Given the description of an element on the screen output the (x, y) to click on. 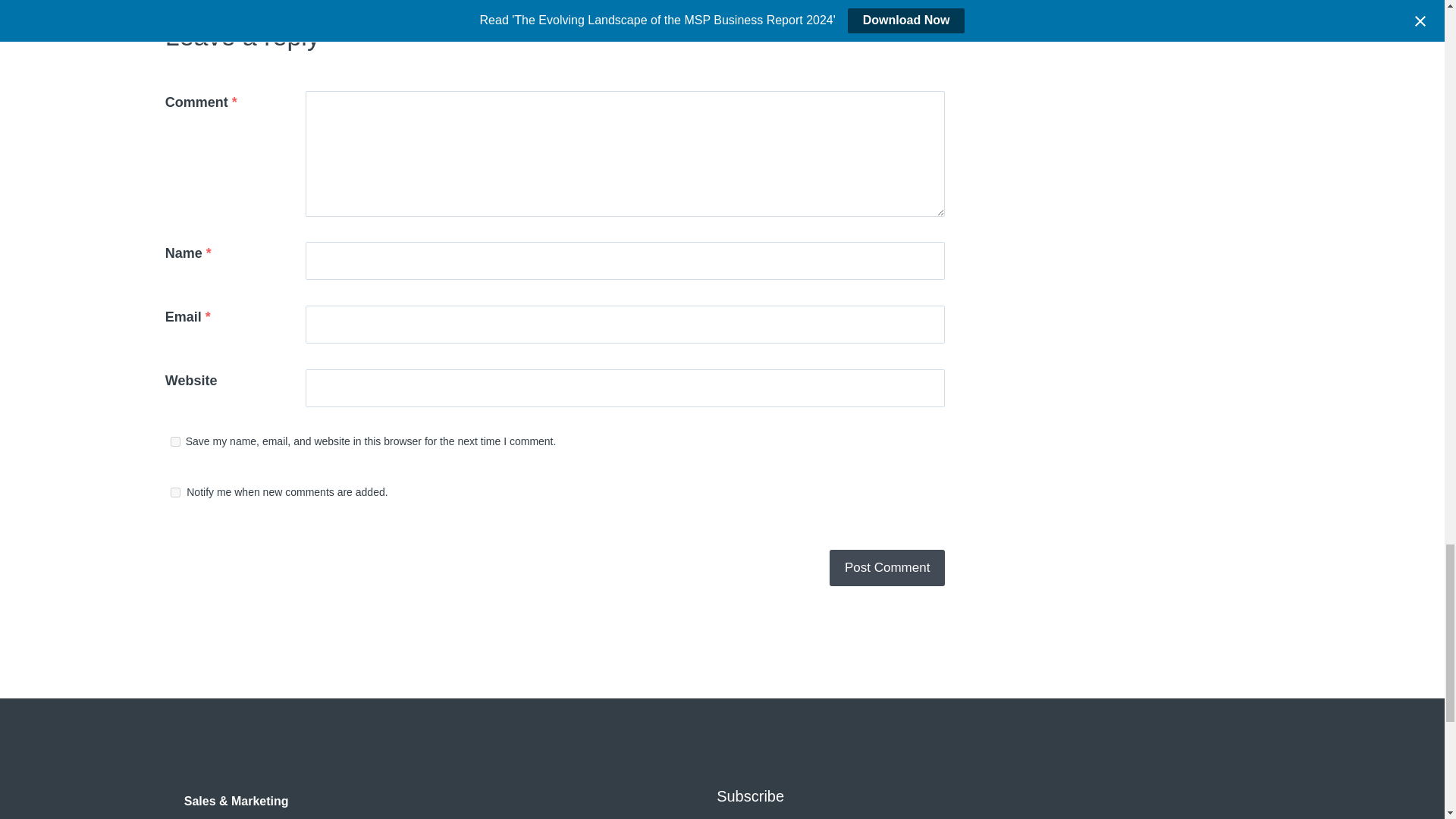
Post Comment (886, 567)
yes (175, 441)
1 (175, 492)
